Given the description of an element on the screen output the (x, y) to click on. 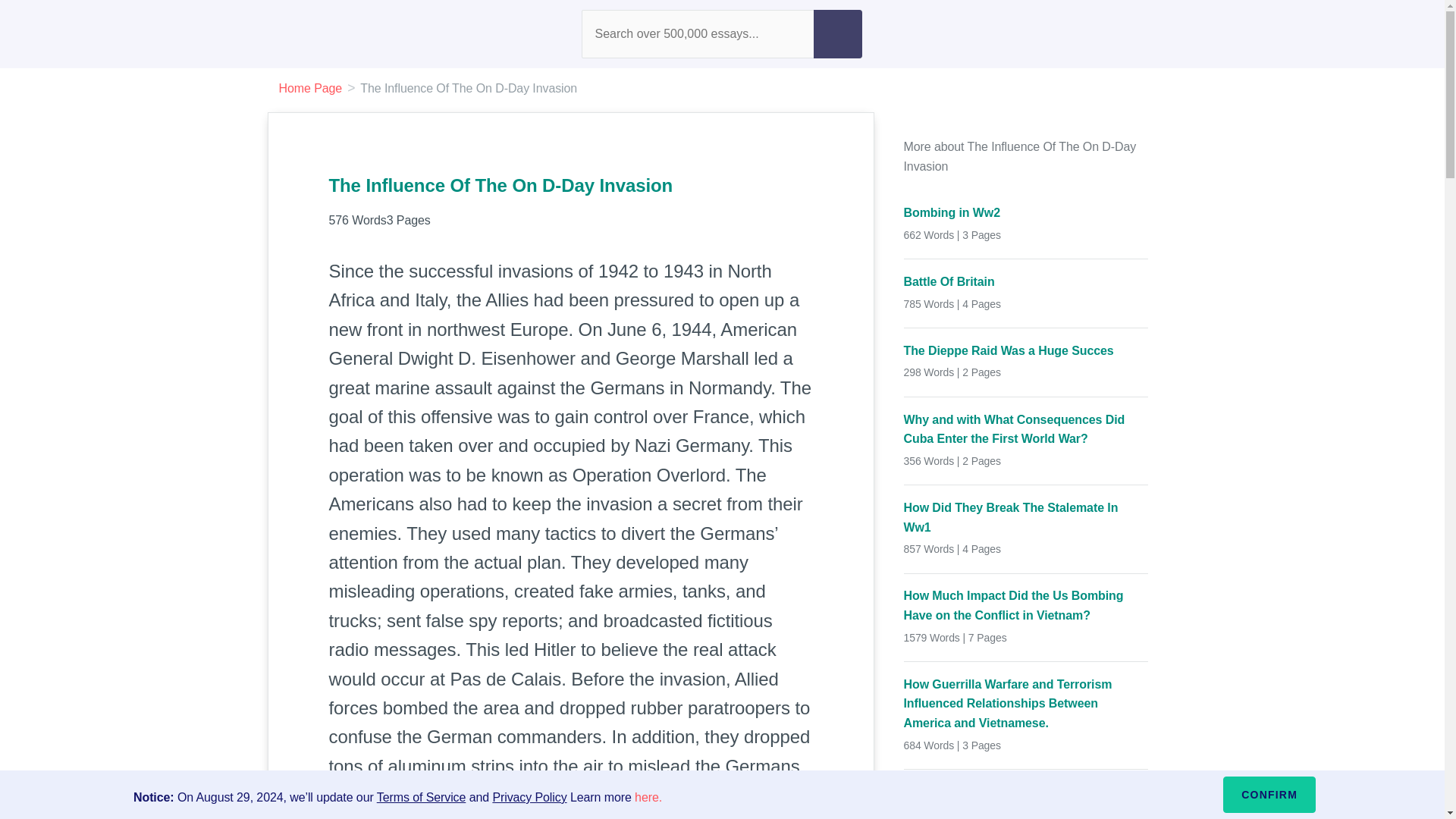
Bombing in Ww2 (1026, 212)
Home Page (310, 88)
How Did They Break The Stalemate In Ww1 (1026, 517)
Battle Of Britain (1026, 281)
Technological Advancements During WWII (1026, 792)
The Dieppe Raid Was a Huge Succes (1026, 351)
